Given the description of an element on the screen output the (x, y) to click on. 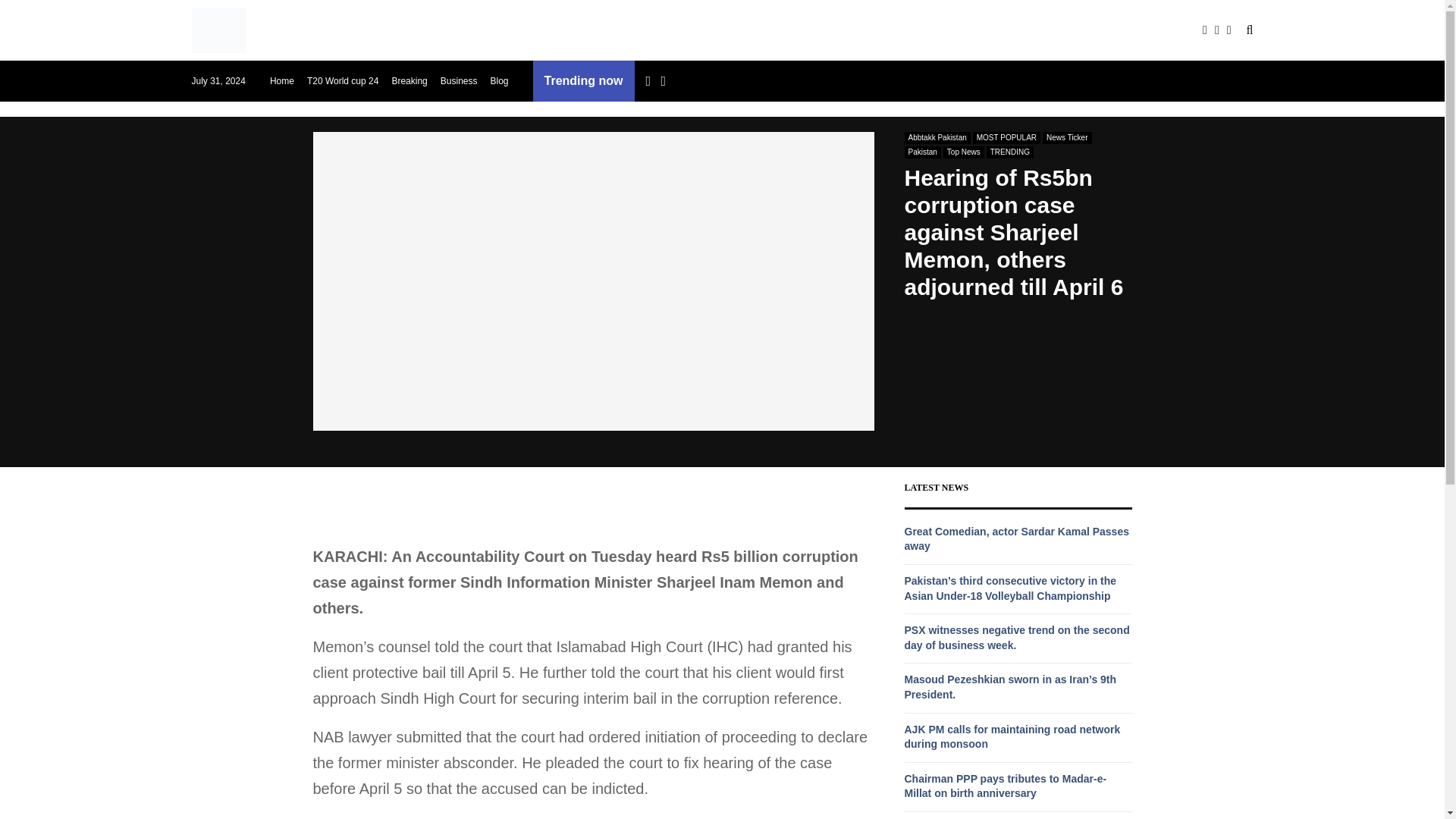
MULTIMEDIA (698, 30)
Pakistan (922, 152)
TRENDING (1010, 152)
Breaking (408, 80)
PROGRAMS (605, 30)
HEADLINES (514, 30)
T20 World cup 24 (342, 80)
Top News (963, 152)
Home (281, 80)
Abbtakk Pakistan (936, 137)
CONTACT US (796, 30)
News Ticker (1066, 137)
MOST POPULAR (1006, 137)
ELECTION RESULTS (403, 30)
Business (459, 80)
